Given the description of an element on the screen output the (x, y) to click on. 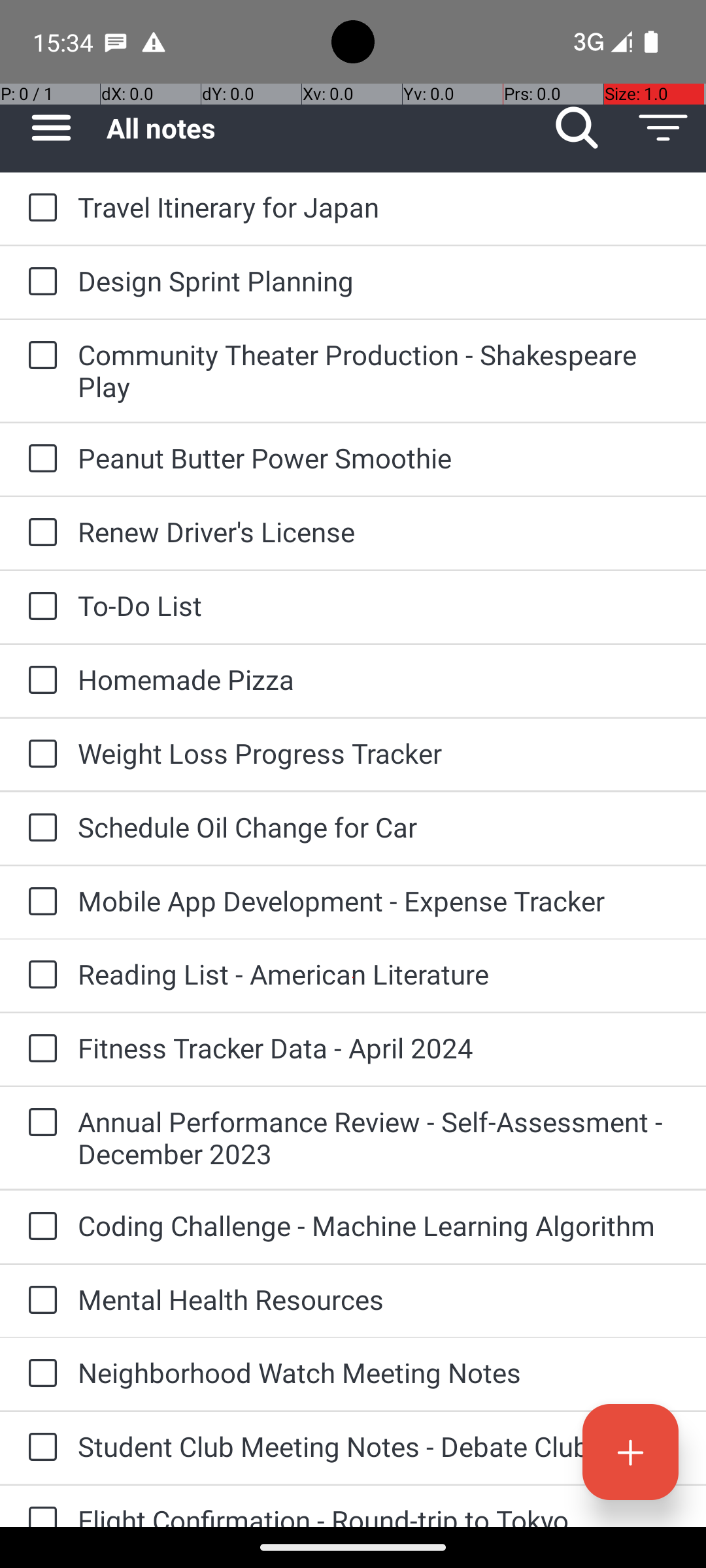
to-do: Travel Itinerary for Japan Element type: android.widget.CheckBox (38, 208)
Travel Itinerary for Japan Element type: android.widget.TextView (378, 206)
to-do: Design Sprint Planning Element type: android.widget.CheckBox (38, 282)
Design Sprint Planning Element type: android.widget.TextView (378, 280)
to-do: Community Theater Production - Shakespeare Play Element type: android.widget.CheckBox (38, 356)
Community Theater Production - Shakespeare Play Element type: android.widget.TextView (378, 370)
to-do: Peanut Butter Power Smoothie Element type: android.widget.CheckBox (38, 459)
Peanut Butter Power Smoothie Element type: android.widget.TextView (378, 457)
to-do: Renew Driver's License Element type: android.widget.CheckBox (38, 533)
Renew Driver's License Element type: android.widget.TextView (378, 531)
to-do: To-Do List Element type: android.widget.CheckBox (38, 606)
To-Do List Element type: android.widget.TextView (378, 604)
to-do: Homemade Pizza Element type: android.widget.CheckBox (38, 680)
Homemade Pizza Element type: android.widget.TextView (378, 678)
to-do: Weight Loss Progress Tracker Element type: android.widget.CheckBox (38, 754)
Weight Loss Progress Tracker Element type: android.widget.TextView (378, 752)
to-do: Schedule Oil Change for Car Element type: android.widget.CheckBox (38, 828)
Schedule Oil Change for Car Element type: android.widget.TextView (378, 826)
to-do: Mobile App Development - Expense Tracker Element type: android.widget.CheckBox (38, 902)
Mobile App Development - Expense Tracker Element type: android.widget.TextView (378, 900)
to-do: Reading List - American Literature Element type: android.widget.CheckBox (38, 975)
Reading List - American Literature Element type: android.widget.TextView (378, 973)
to-do: Fitness Tracker Data - April 2024 Element type: android.widget.CheckBox (38, 1049)
Fitness Tracker Data - April 2024 Element type: android.widget.TextView (378, 1047)
to-do: Annual Performance Review - Self-Assessment - December 2023 Element type: android.widget.CheckBox (38, 1123)
Annual Performance Review - Self-Assessment - December 2023 Element type: android.widget.TextView (378, 1137)
to-do: Coding Challenge - Machine Learning Algorithm Element type: android.widget.CheckBox (38, 1227)
Coding Challenge - Machine Learning Algorithm Element type: android.widget.TextView (378, 1224)
to-do: Mental Health Resources Element type: android.widget.CheckBox (38, 1300)
Mental Health Resources Element type: android.widget.TextView (378, 1298)
to-do: Neighborhood Watch Meeting Notes Element type: android.widget.CheckBox (38, 1373)
Neighborhood Watch Meeting Notes Element type: android.widget.TextView (378, 1371)
to-do: Student Club Meeting Notes - Debate Club Element type: android.widget.CheckBox (38, 1447)
Student Club Meeting Notes - Debate Club Element type: android.widget.TextView (378, 1445)
to-do: Flight Confirmation - Round-trip to Tokyo Element type: android.widget.CheckBox (38, 1505)
Flight Confirmation - Round-trip to Tokyo Element type: android.widget.TextView (378, 1513)
